Given the description of an element on the screen output the (x, y) to click on. 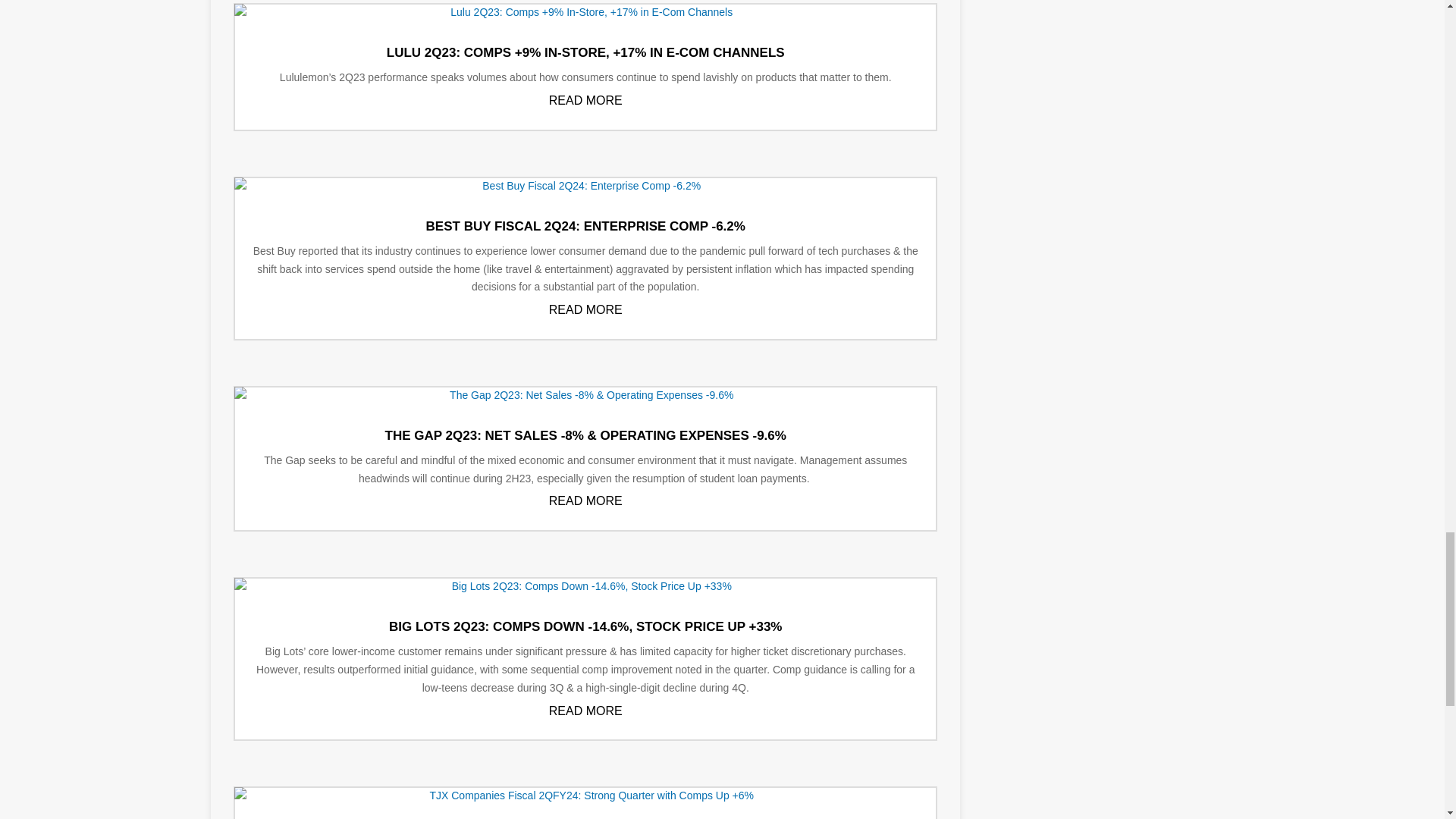
READ MORE (585, 710)
READ MORE (585, 309)
READ MORE (585, 500)
READ MORE (585, 100)
